Given the description of an element on the screen output the (x, y) to click on. 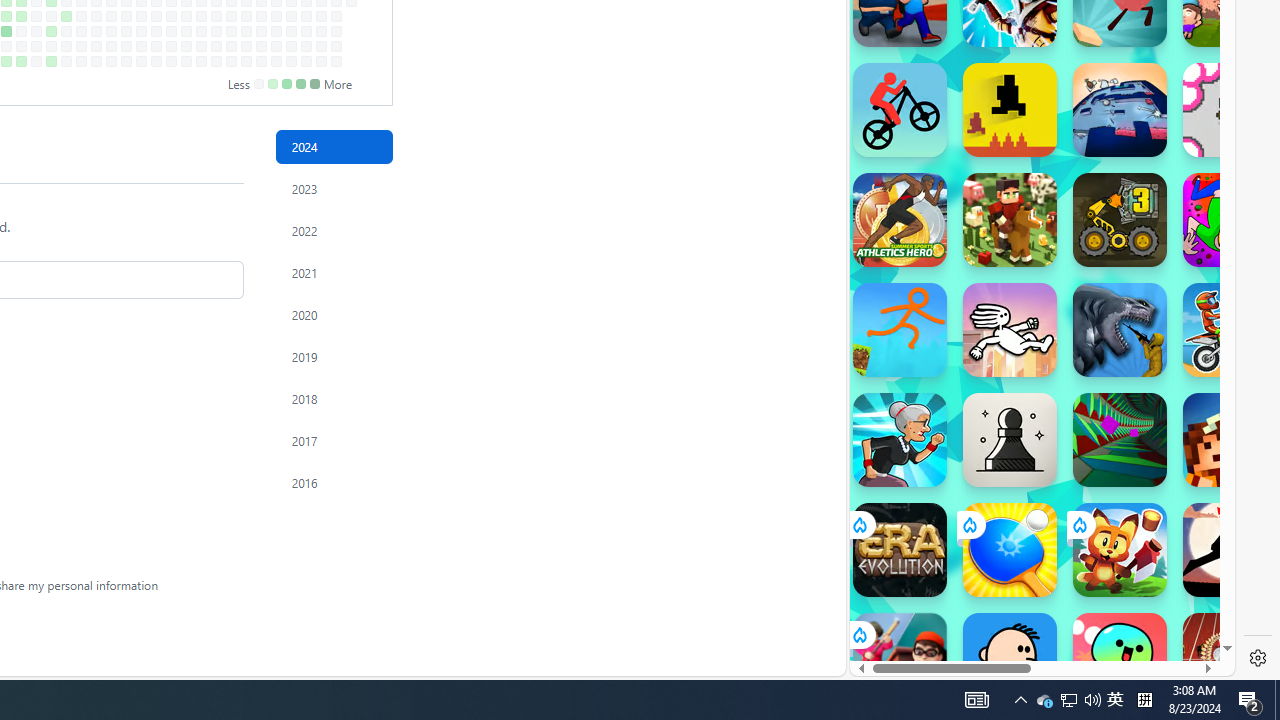
poki.com (1092, 338)
Dreadhead Parkour (1009, 329)
No contributions on December 13th. (306, 46)
No contributions on November 9th. (231, 61)
No contributions on August 28th. (81, 16)
Athletics Hero Athletics Hero (899, 219)
No contributions on November 16th. (246, 61)
No contributions on October 9th. (171, 16)
No contributions on October 2nd. (156, 16)
No contributions on October 19th. (186, 61)
No contributions on September 26th. (141, 30)
1 contribution on July 31st. (20, 16)
No contributions on September 27th. (141, 46)
No contributions on October 12th. (171, 61)
